Given the description of an element on the screen output the (x, y) to click on. 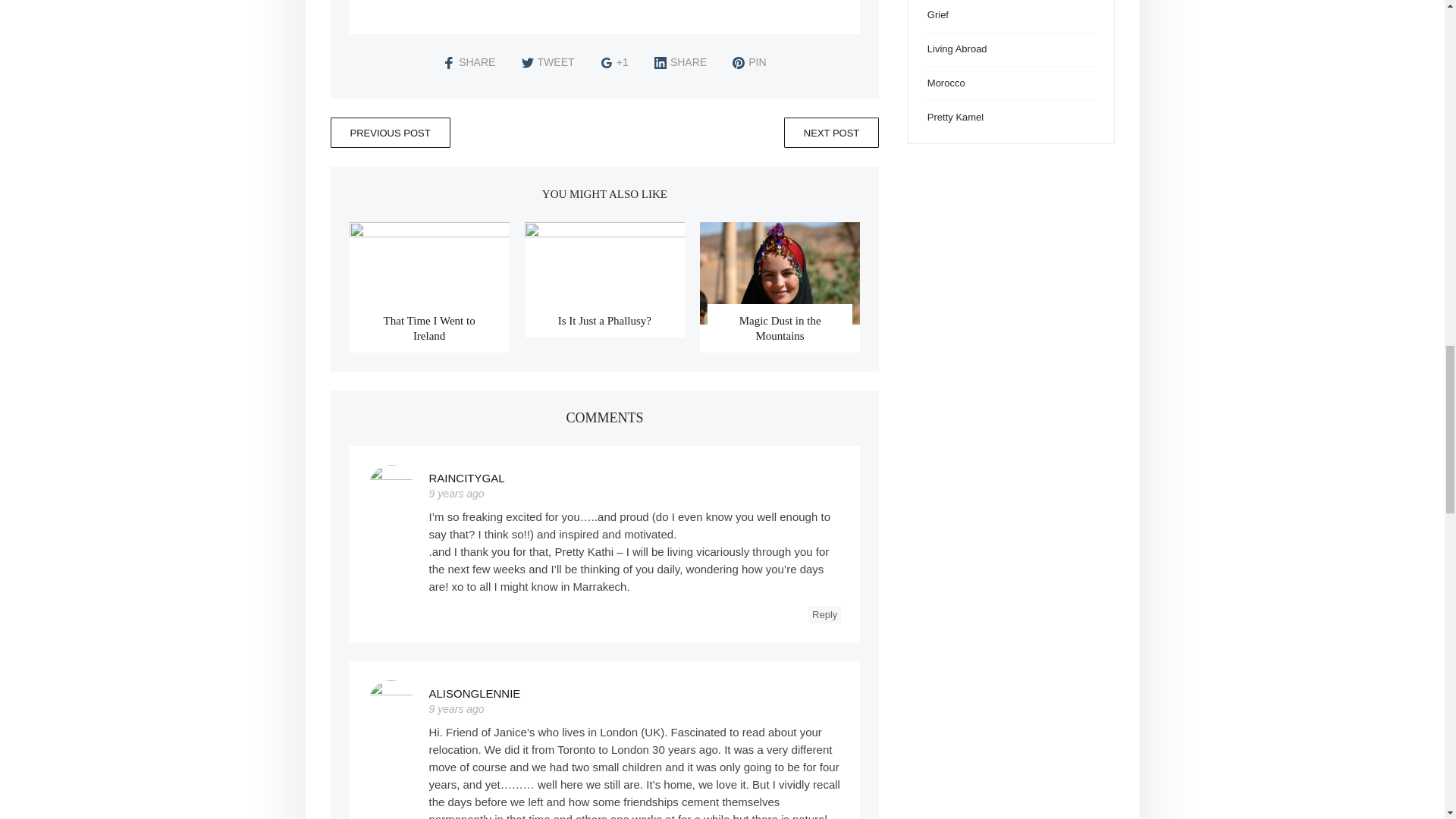
PREVIOUS POST (389, 132)
Grief (938, 14)
TWEET (548, 61)
SHARE (468, 61)
SHARE (679, 61)
Living Abroad (957, 48)
Morocco (946, 82)
Reply (824, 614)
9 years ago (456, 708)
Is It Just a Phallusy? (603, 320)
